Given the description of an element on the screen output the (x, y) to click on. 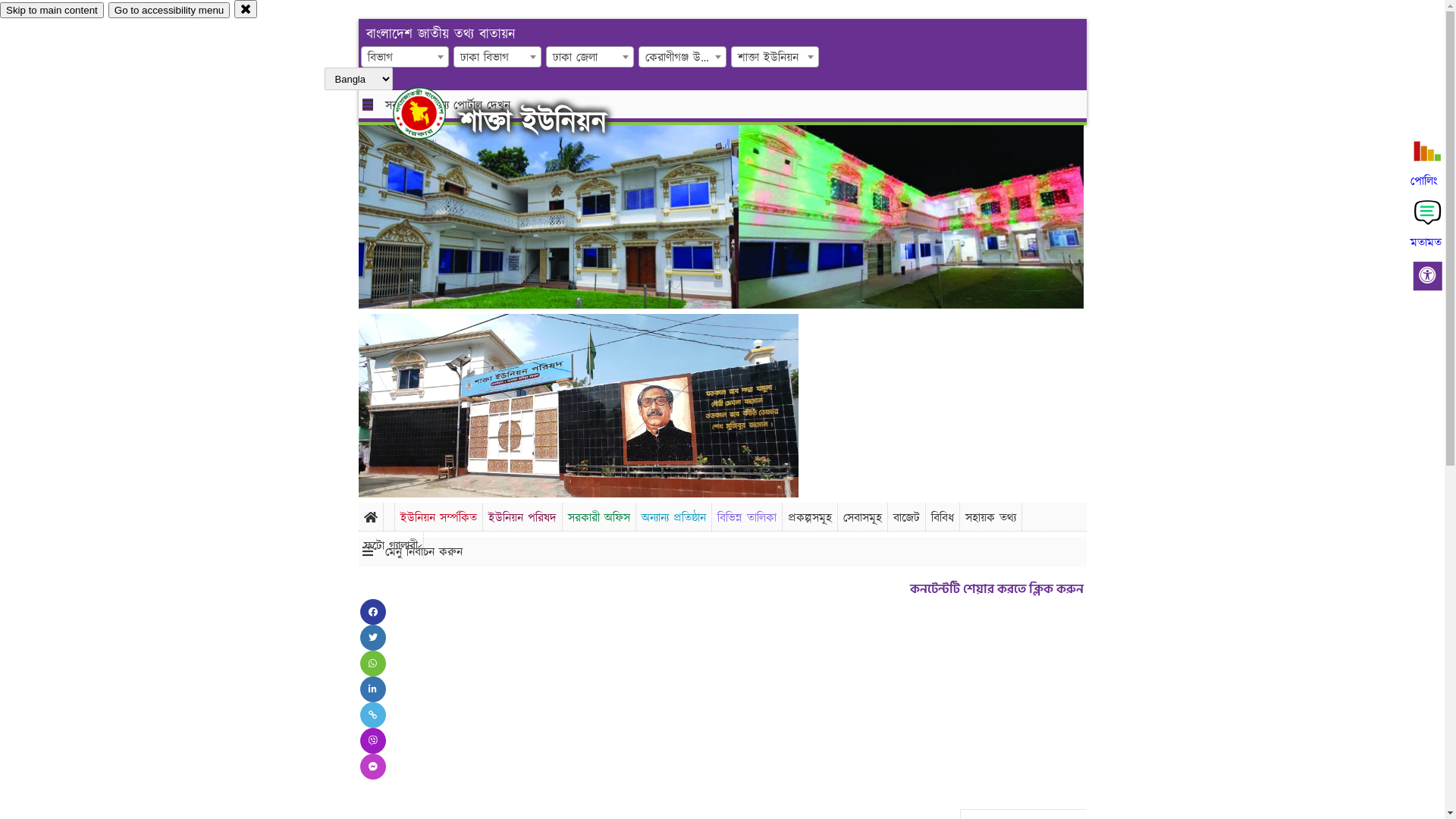
close Element type: hover (245, 9)
Skip to main content Element type: text (51, 10)
Go to accessibility menu Element type: text (168, 10)

                
             Element type: hover (431, 112)
